Given the description of an element on the screen output the (x, y) to click on. 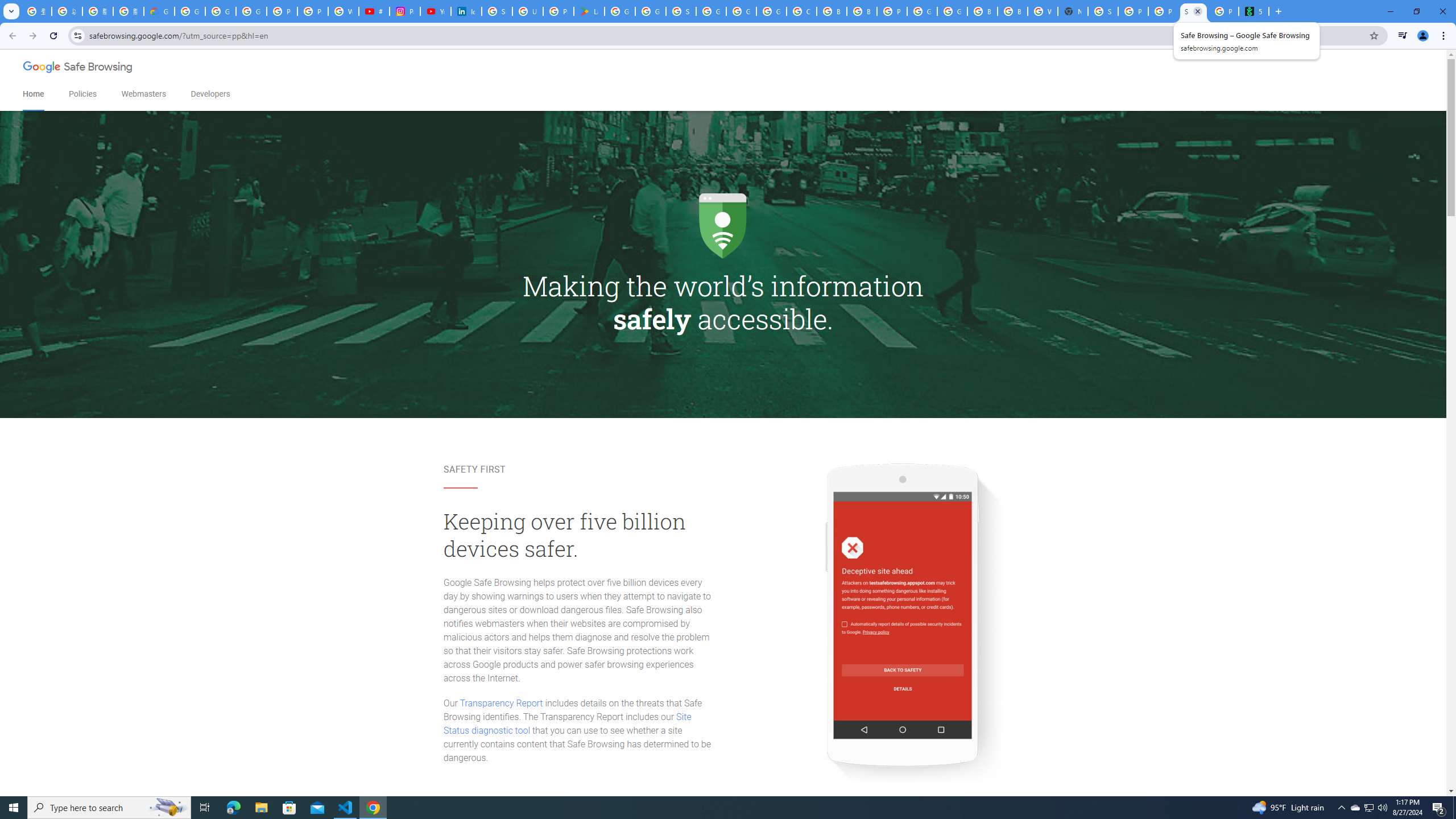
Google Safe Browsing (78, 68)
Policies (82, 94)
Privacy Help Center - Policies Help (312, 11)
